Given the description of an element on the screen output the (x, y) to click on. 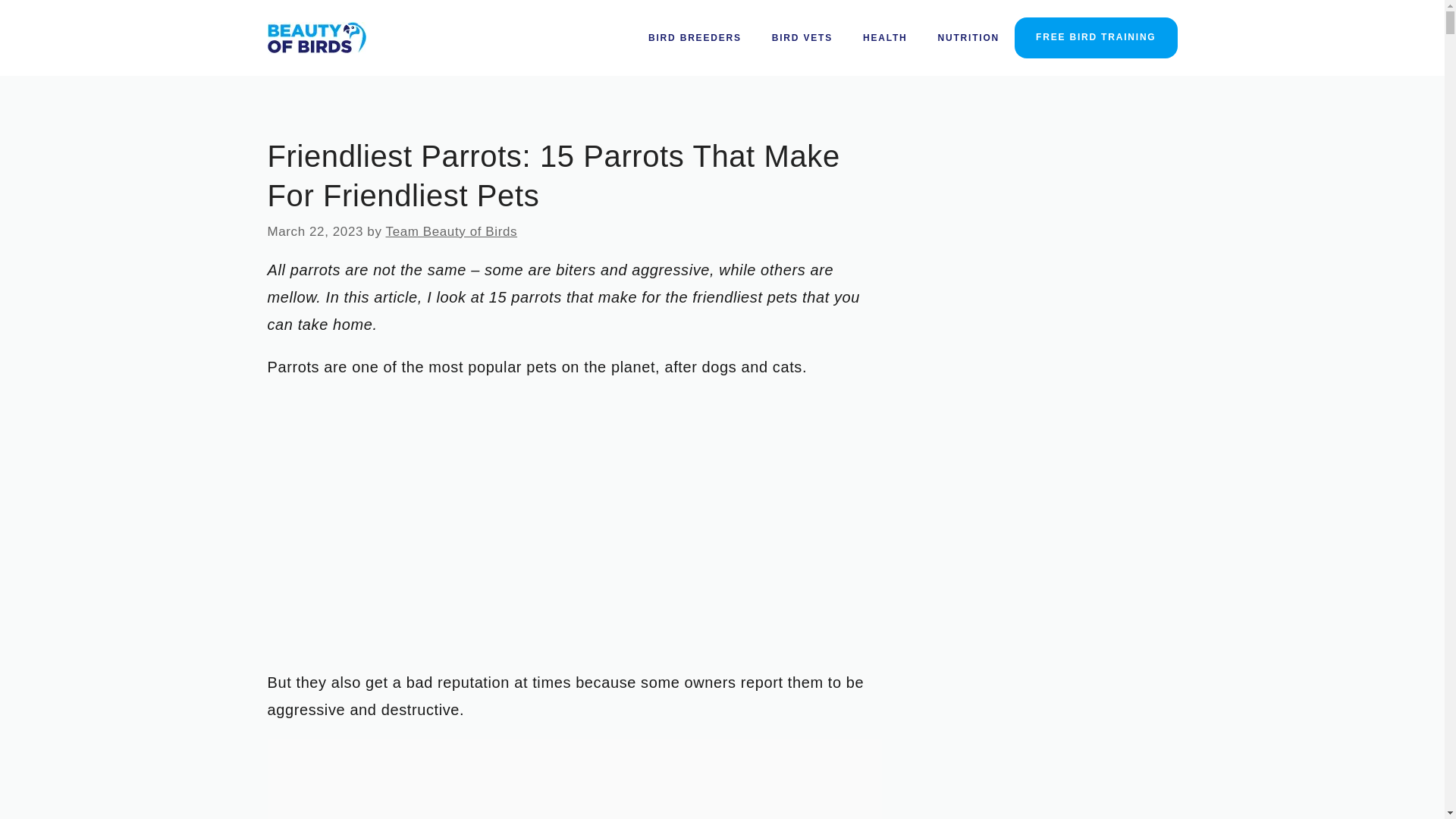
NUTRITION (968, 37)
HEALTH (885, 37)
BIRD BREEDERS (695, 37)
FREE BIRD TRAINING (1095, 37)
View all posts by Team Beauty of Birds (451, 231)
BIRD VETS (802, 37)
Team Beauty of Birds (451, 231)
